Given the description of an element on the screen output the (x, y) to click on. 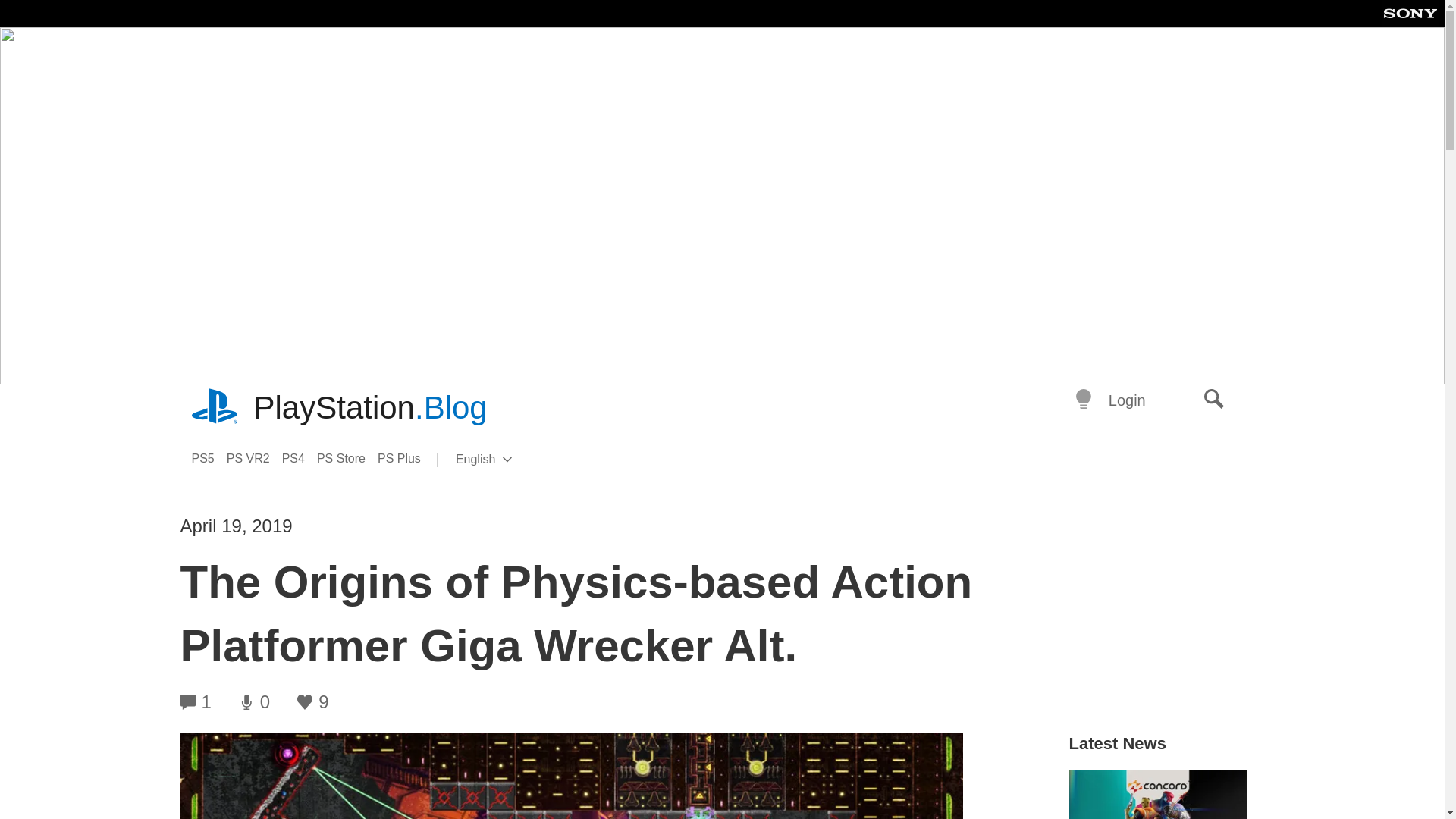
playstation.com (215, 408)
PlayStation.Blog (369, 407)
PS VR2 (254, 458)
PS4 (299, 458)
Login (1126, 400)
Search (1214, 400)
PS Plus (404, 458)
PS5 (508, 459)
PS Store (207, 458)
